Given the description of an element on the screen output the (x, y) to click on. 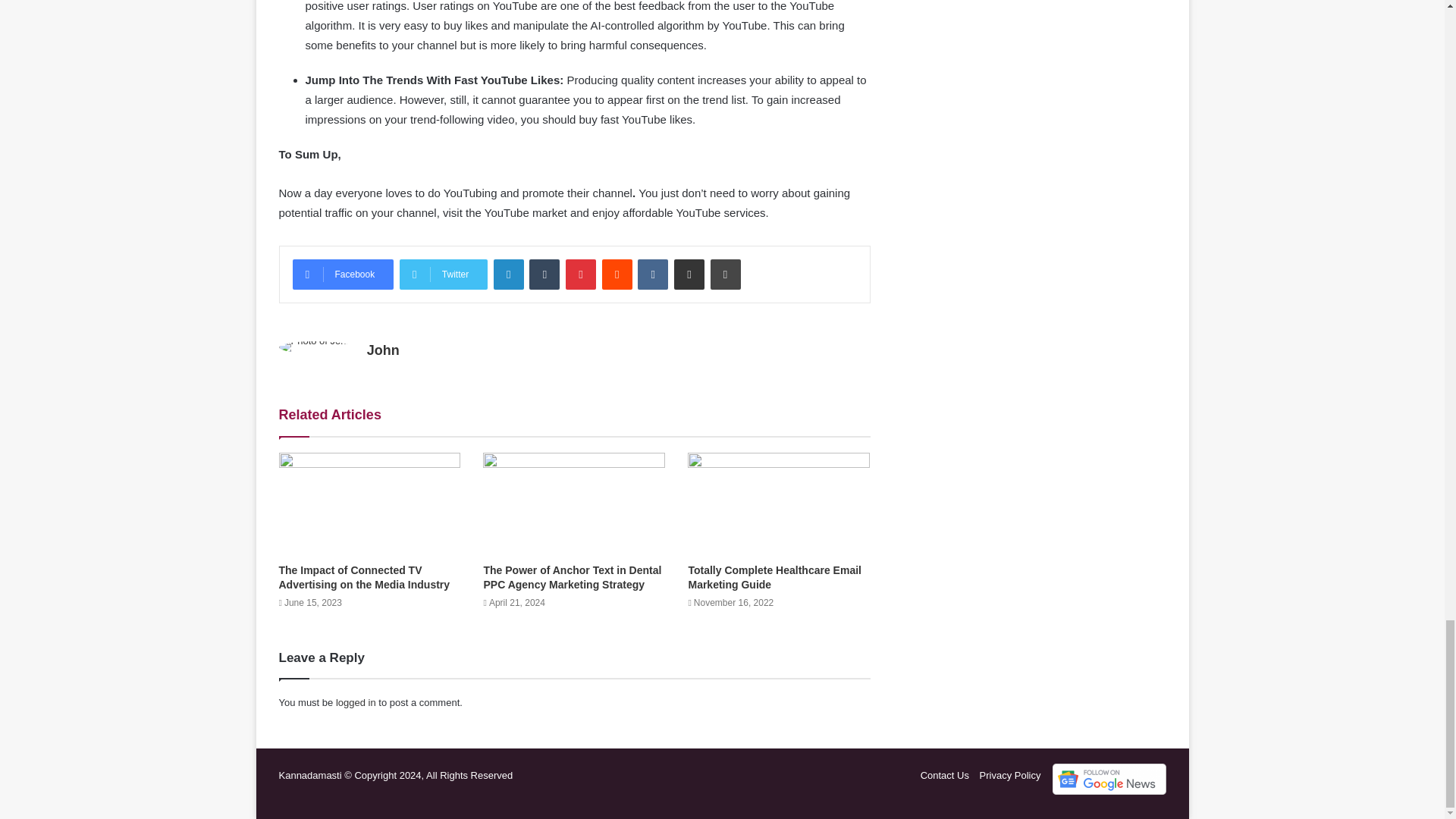
VKontakte (652, 274)
Share via Email (689, 274)
Facebook (343, 274)
Pinterest (580, 274)
Print (725, 274)
Reddit (616, 274)
VKontakte (652, 274)
Tumblr (544, 274)
Tumblr (544, 274)
Reddit (616, 274)
LinkedIn (508, 274)
John (382, 350)
Print (725, 274)
Facebook (343, 274)
The Impact of Connected TV Advertising on the Media Industry (364, 577)
